Given the description of an element on the screen output the (x, y) to click on. 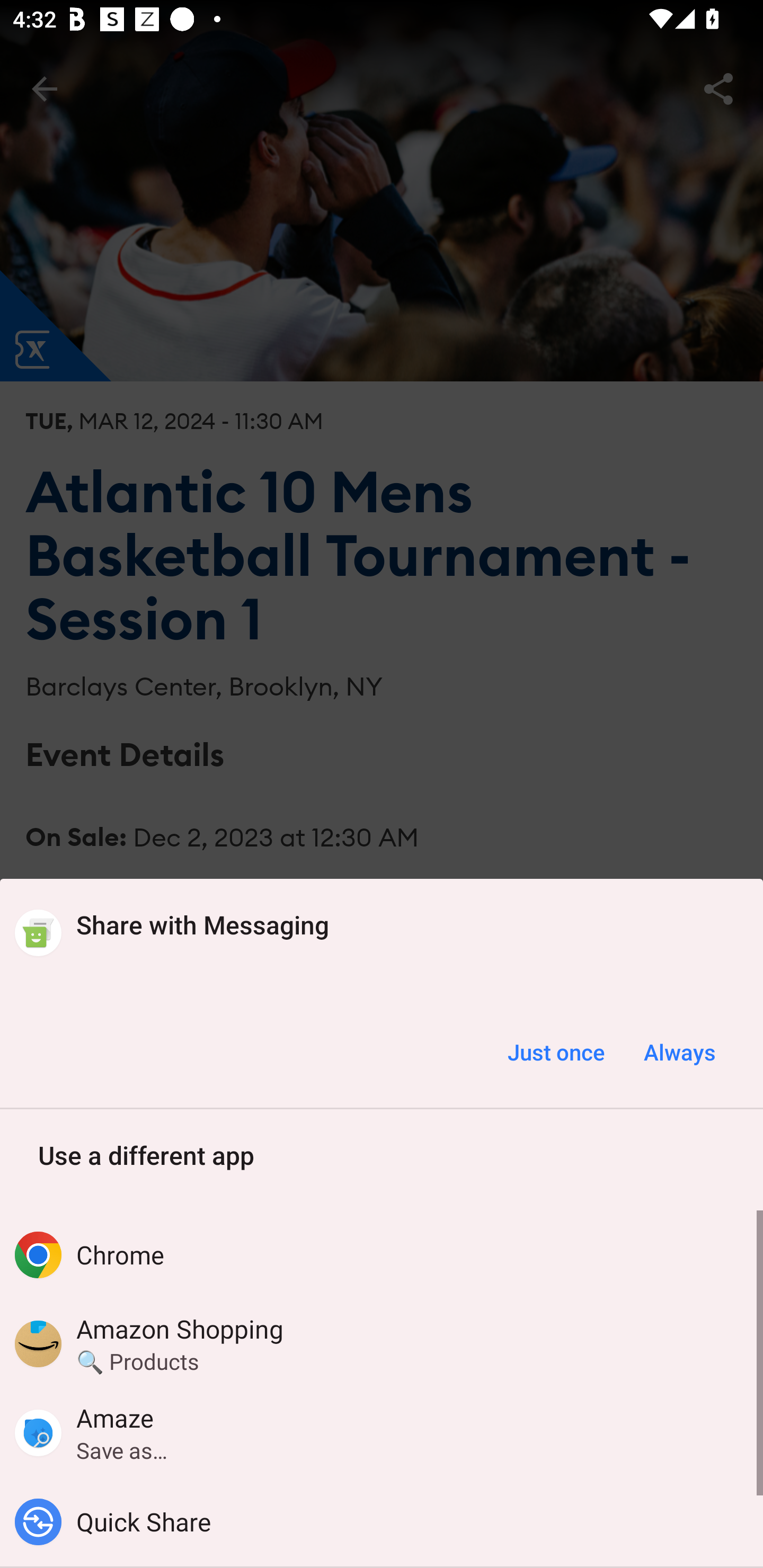
Just once (556, 1051)
Always (679, 1051)
Chrome (381, 1254)
Amazon Shopping 🔍 Products (381, 1343)
Amaze Save as… (381, 1432)
Quick Share (381, 1521)
